Given the description of an element on the screen output the (x, y) to click on. 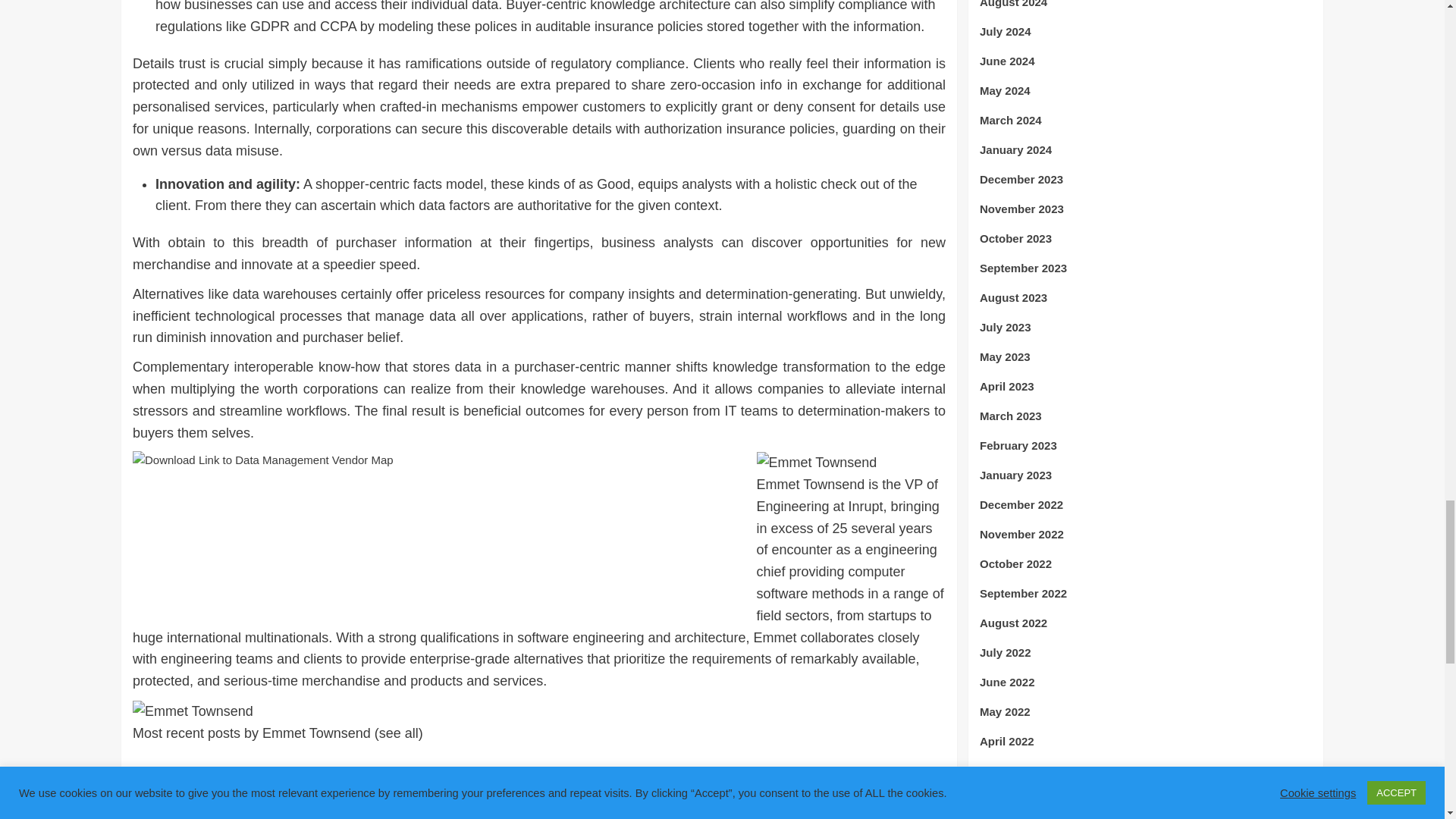
engineering (257, 770)
warehouse (424, 770)
unveils (376, 770)
data (213, 770)
benefits (179, 770)
Management (322, 770)
